Given the description of an element on the screen output the (x, y) to click on. 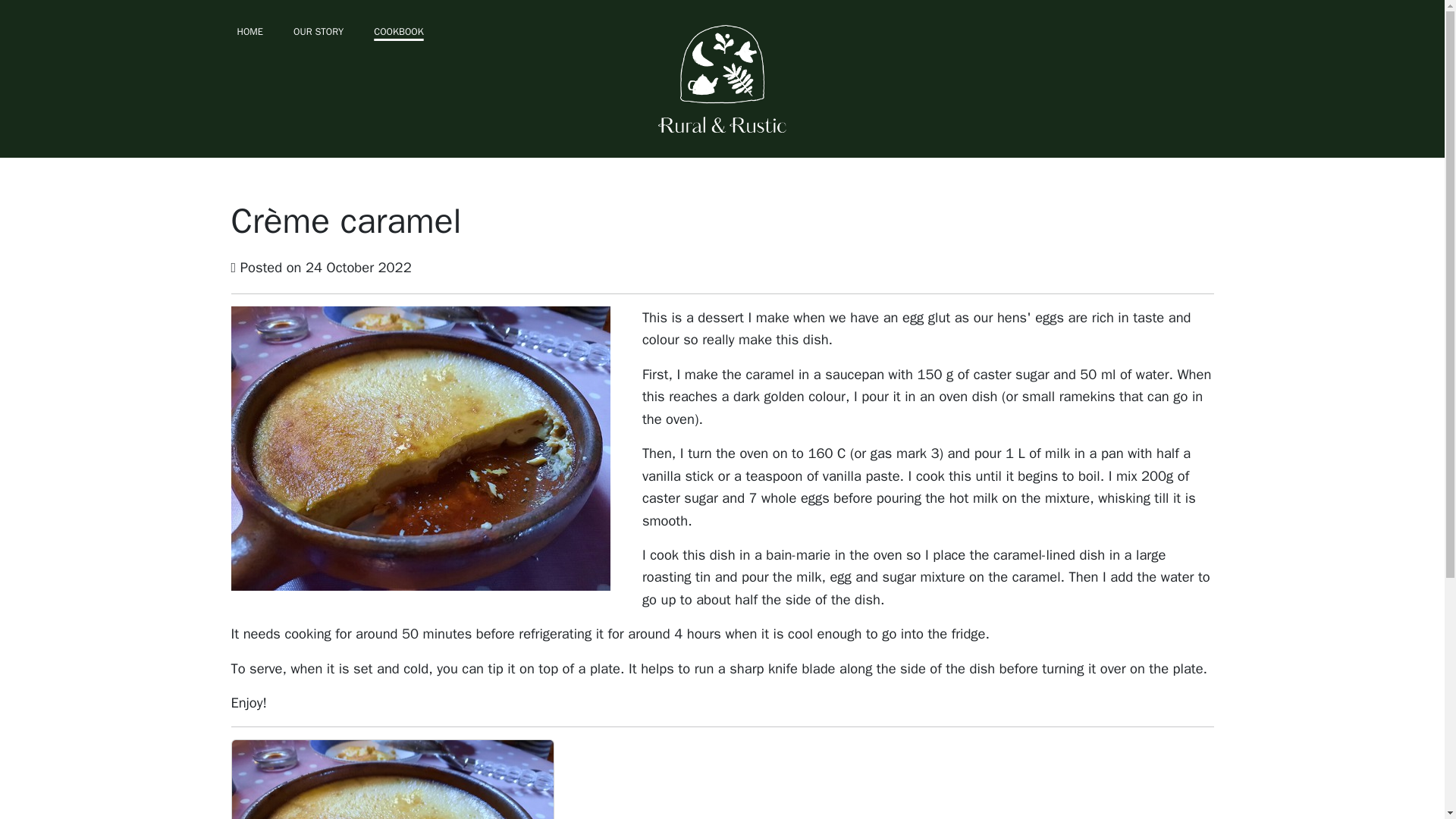
OUR STORY (317, 31)
COOKBOOK (398, 31)
HOME (249, 31)
